Given the description of an element on the screen output the (x, y) to click on. 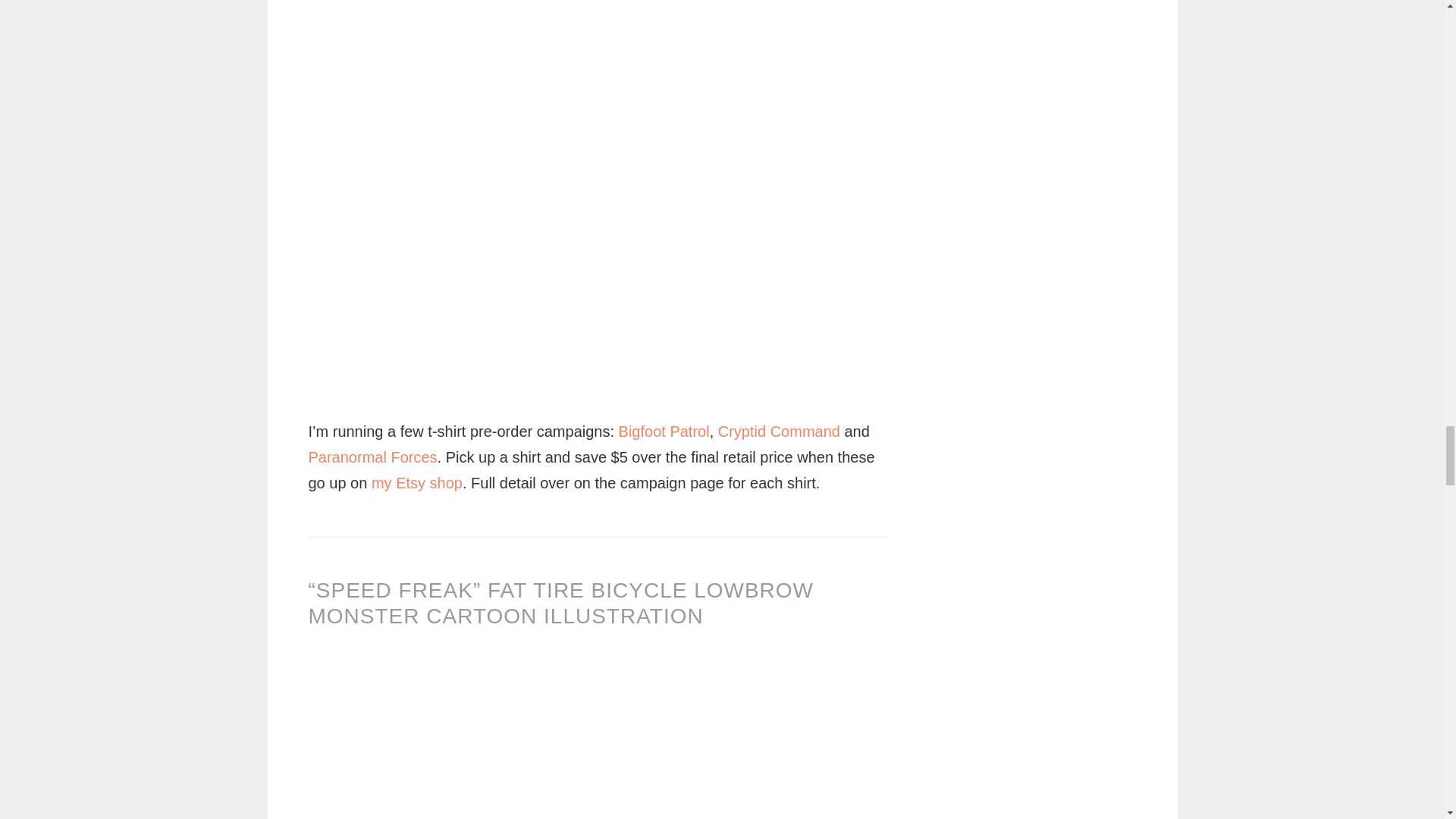
Cryptid Command (778, 431)
Paranormal Forces (371, 457)
Bigfoot Patrol (664, 431)
